Given the description of an element on the screen output the (x, y) to click on. 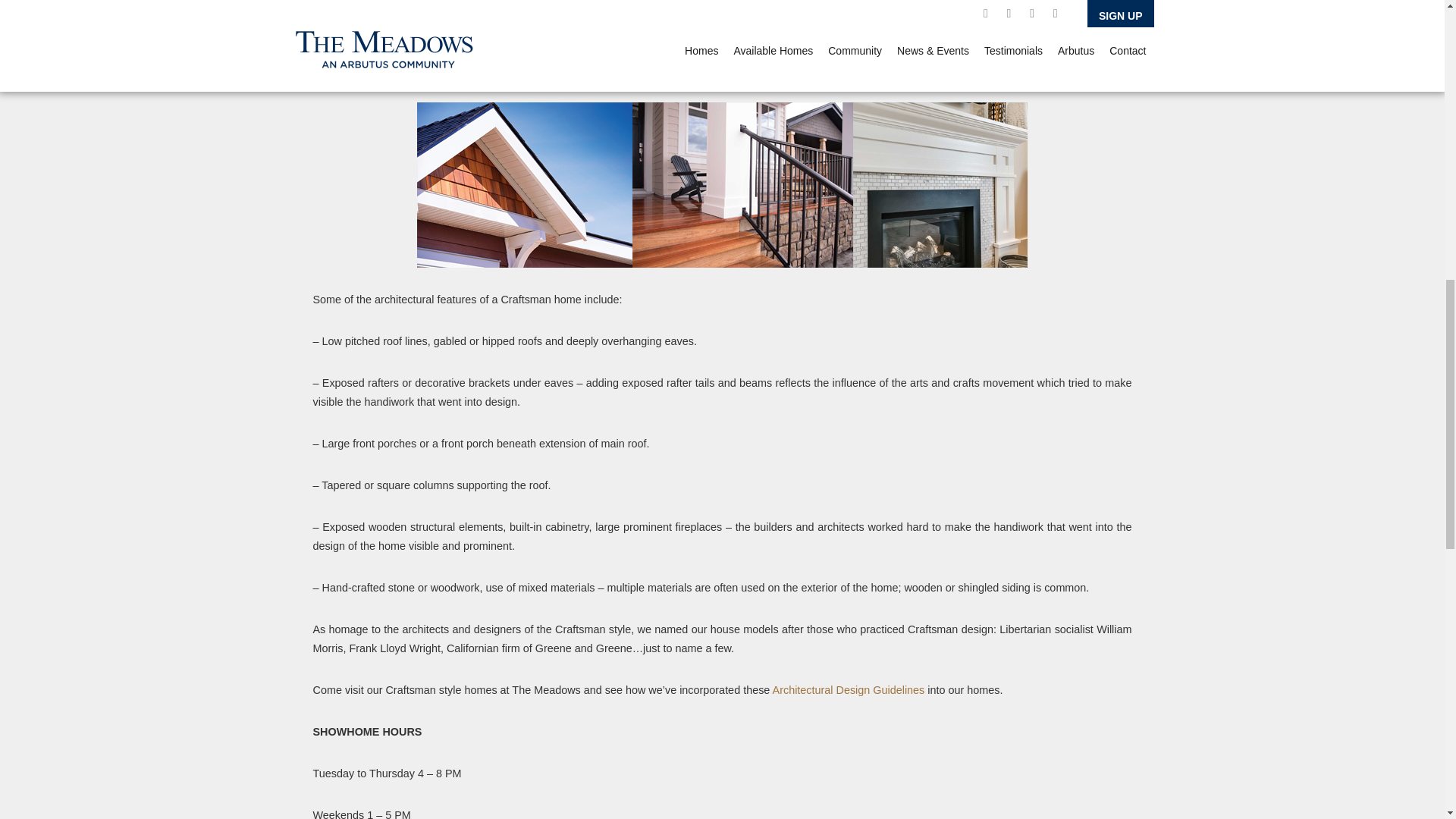
Architectural Design Guidelines (848, 689)
